Given the description of an element on the screen output the (x, y) to click on. 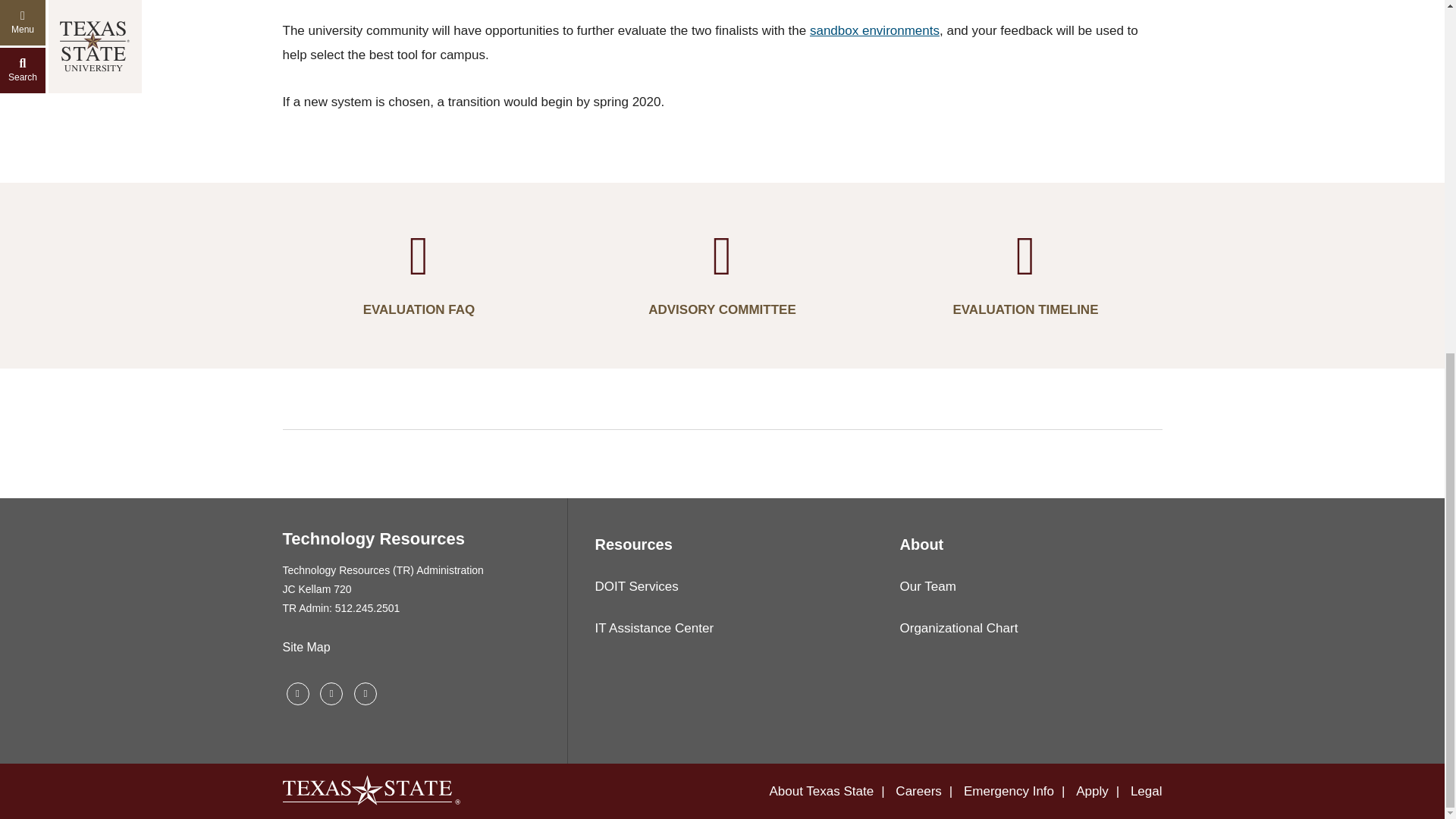
Site Map (306, 647)
Twitter (365, 693)
EVALUATION TIMELINE (1024, 274)
EVALUATION FAQ (418, 274)
JC Kellam 720 (316, 588)
Instagram (331, 693)
Facebook (297, 693)
sandbox environments (875, 30)
512.245.2501 (367, 608)
Technology Resources (373, 538)
ADVISORY COMMITTEE (721, 274)
